Given the description of an element on the screen output the (x, y) to click on. 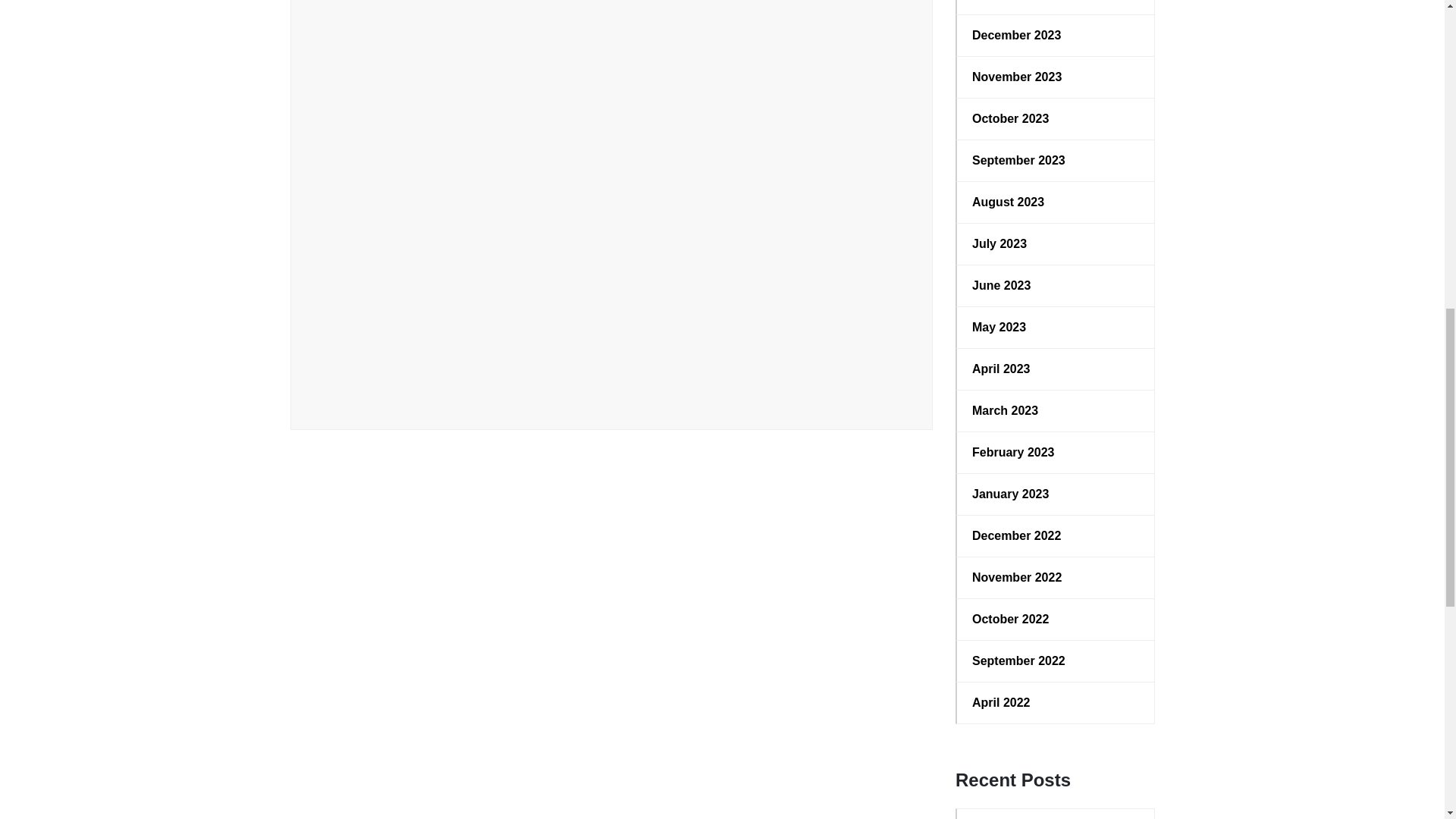
December 2022 (1055, 536)
July 2023 (1055, 244)
April 2022 (1055, 702)
October 2022 (1055, 619)
September 2023 (1055, 160)
September 2022 (1055, 660)
Admin (370, 389)
August 2023 (1055, 202)
April 2023 (1055, 369)
November 2023 (1055, 76)
